Given the description of an element on the screen output the (x, y) to click on. 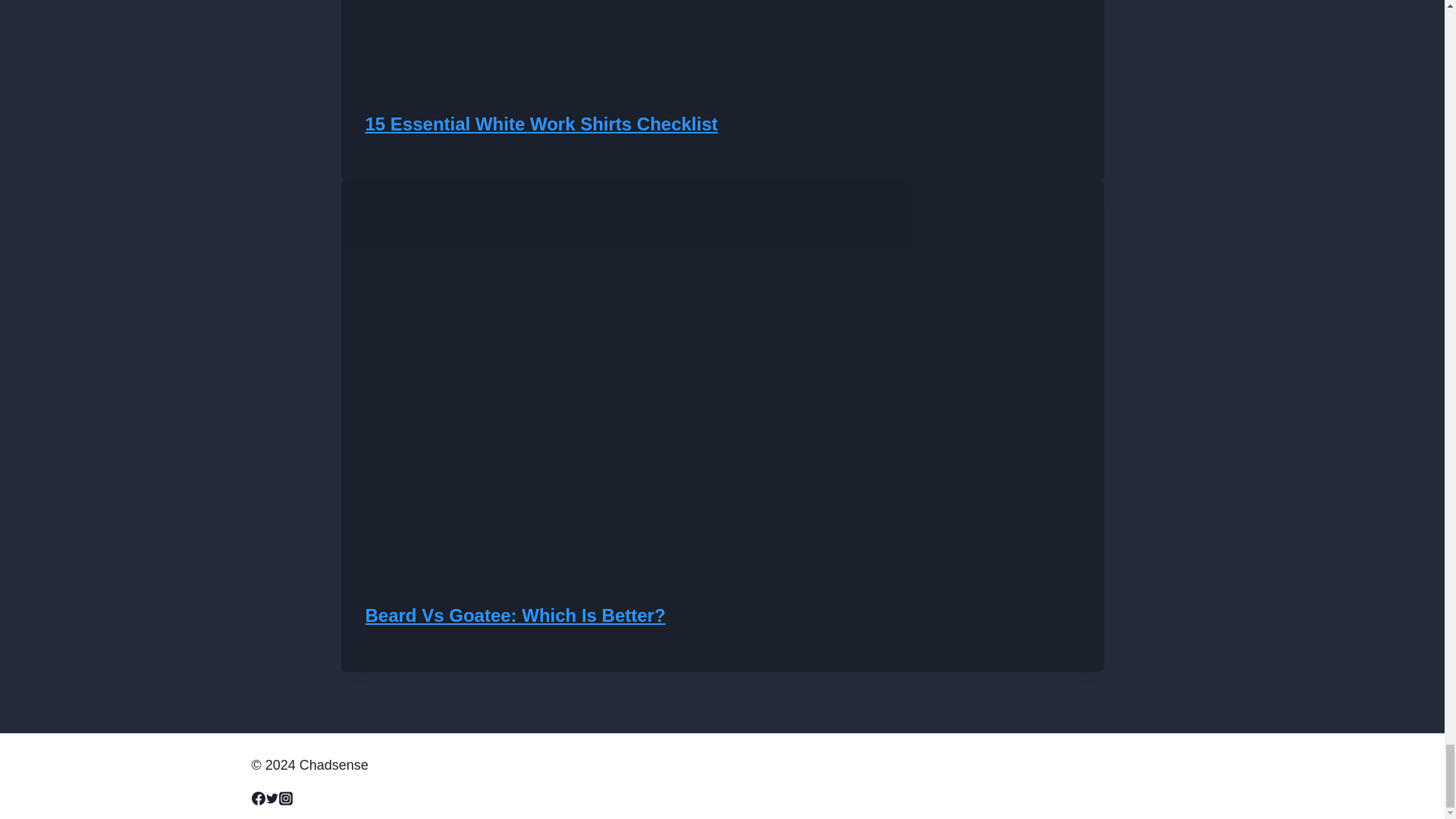
15 essential White Work Shirts checklist 6 (625, 33)
